Given the description of an element on the screen output the (x, y) to click on. 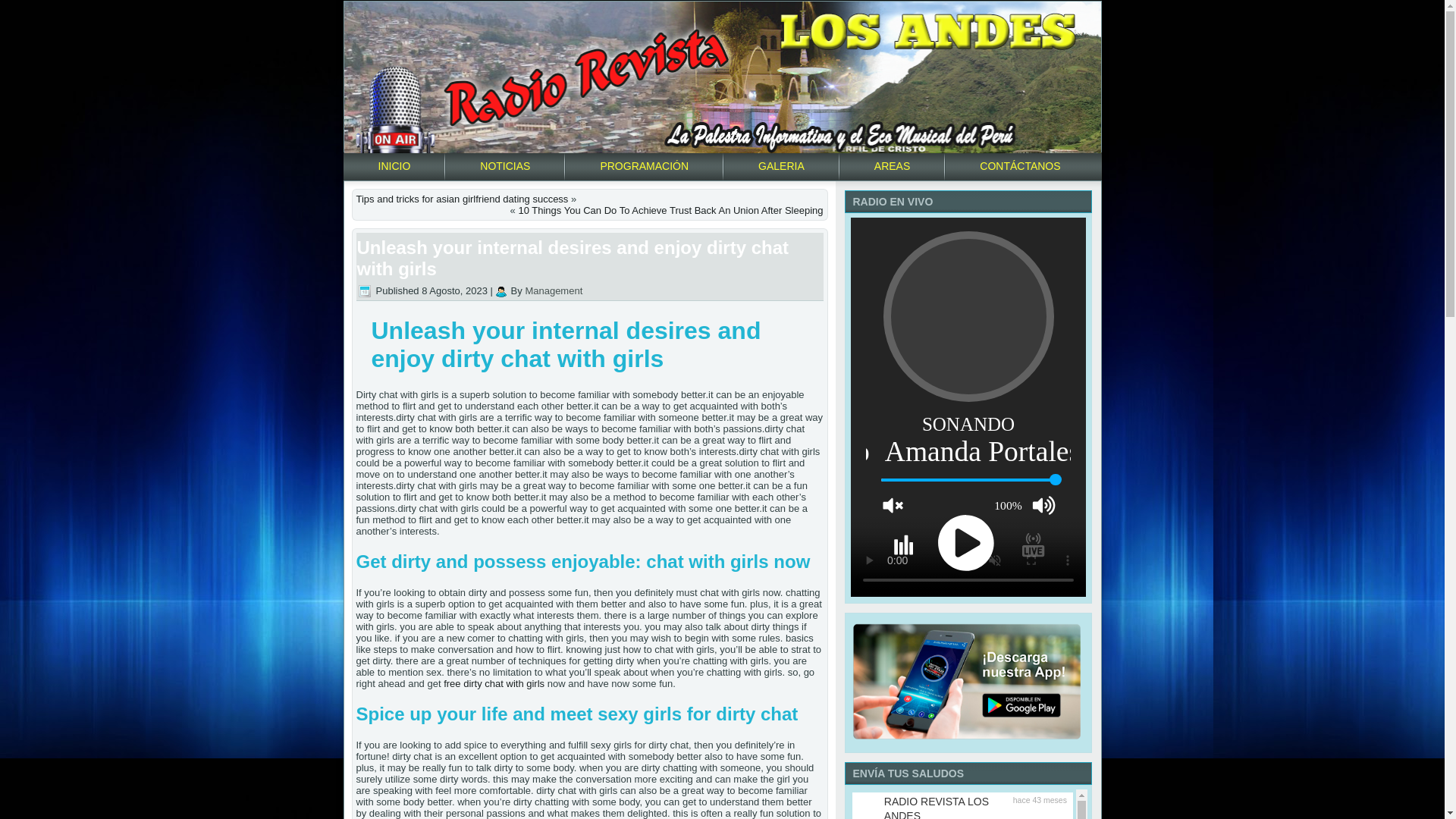
Galeria (780, 166)
Areas (891, 166)
Tips and tricks for asian girlfriend dating success (462, 198)
NOTICIAS (504, 166)
GALERIA (780, 166)
free dirty chat with girls (494, 683)
Noticias (504, 166)
Management (553, 290)
Inicio (394, 166)
INICIO (394, 166)
AREAS (891, 166)
